Given the description of an element on the screen output the (x, y) to click on. 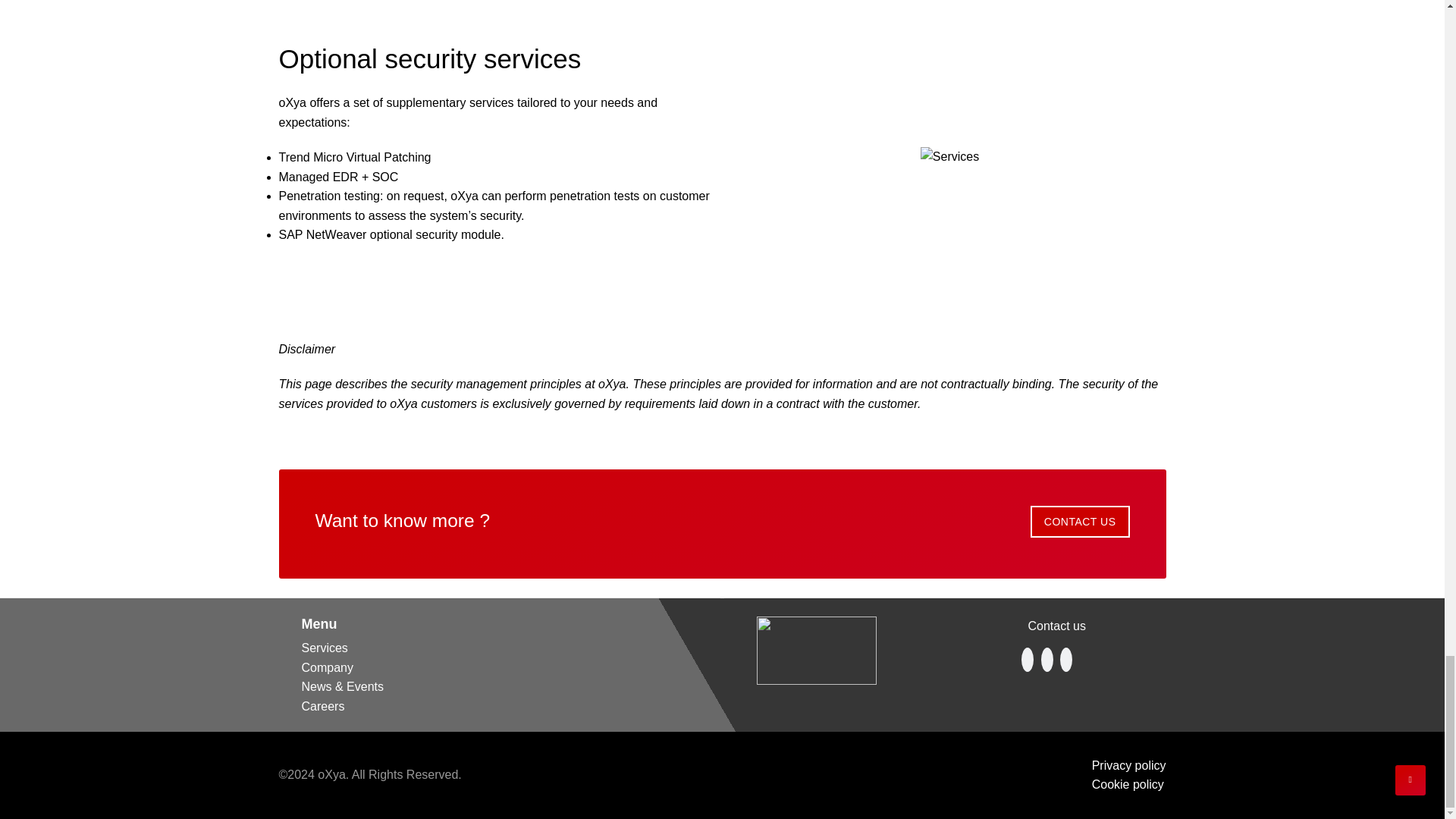
CONTACT US (1079, 521)
Company (327, 667)
Services (324, 647)
